Given the description of an element on the screen output the (x, y) to click on. 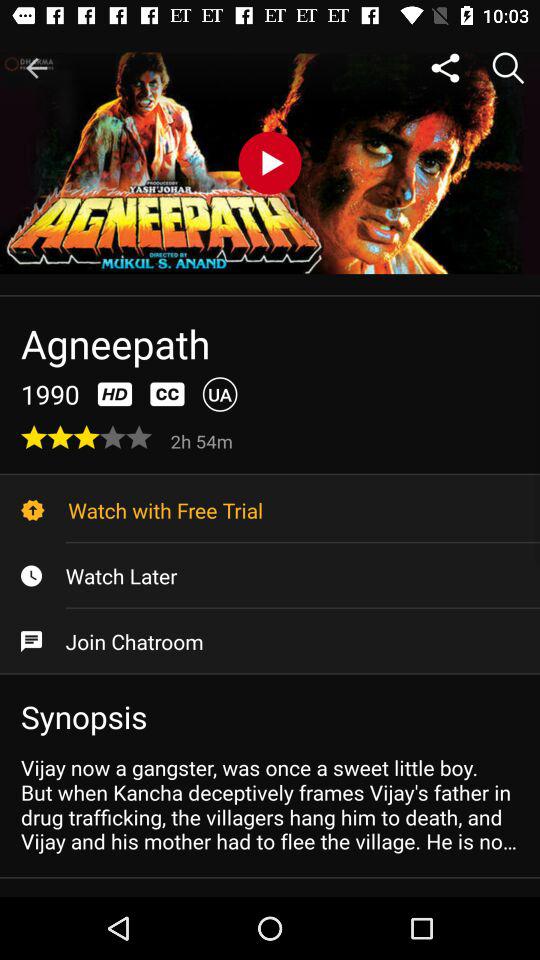
press vijay now a icon (270, 804)
